Given the description of an element on the screen output the (x, y) to click on. 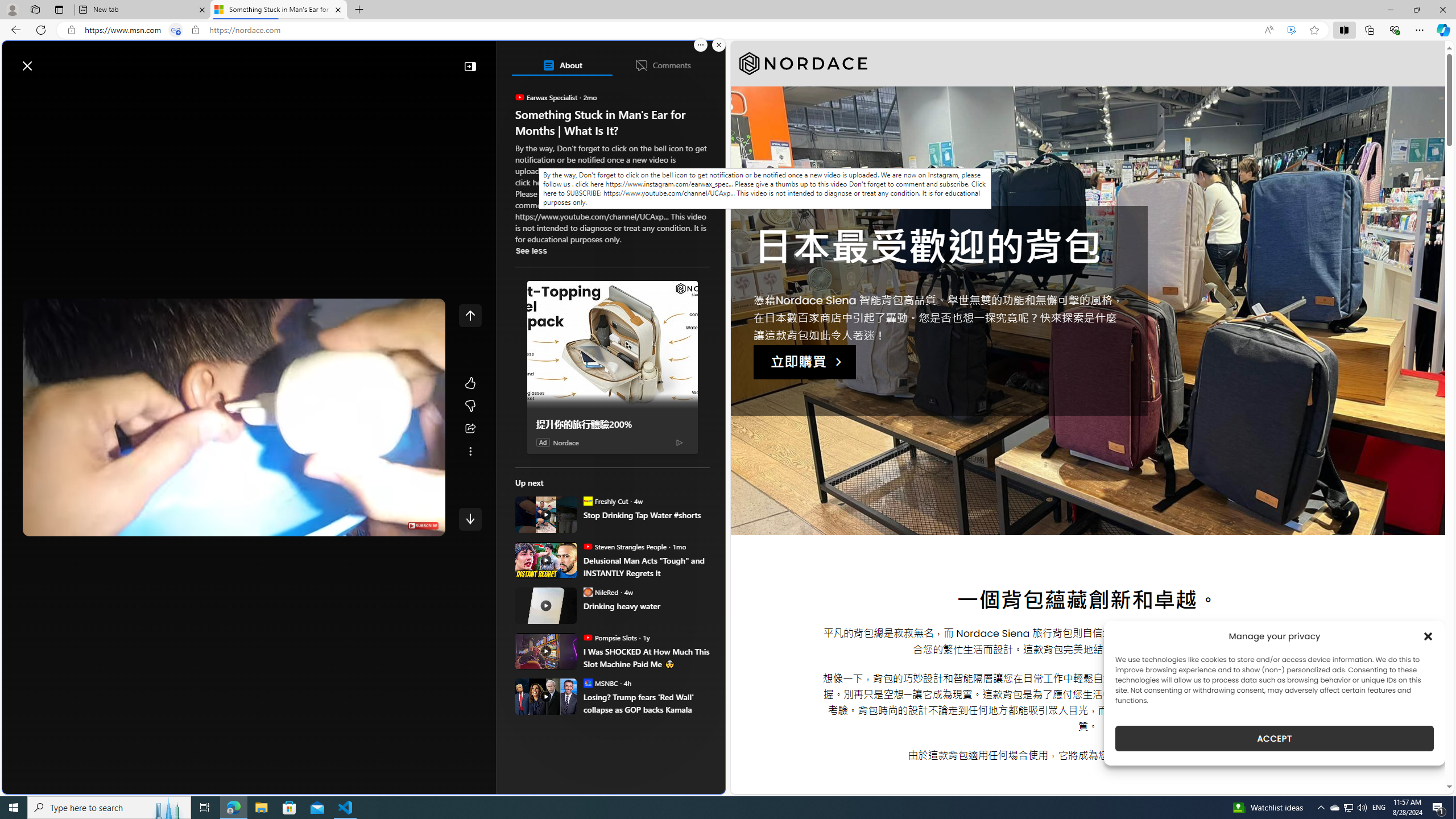
Close split screen. (719, 45)
Workspaces (34, 9)
Class: ytp-subtitles-button-icon (343, 525)
ABC News (554, 415)
Minimize (1390, 9)
Open Copilot (566, 59)
View site information (195, 29)
Read aloud this page (Ctrl+Shift+U) (1268, 29)
See more (469, 451)
New Tab (358, 9)
Class: cmplz-close (1428, 636)
Open settings (699, 60)
